Given the description of an element on the screen output the (x, y) to click on. 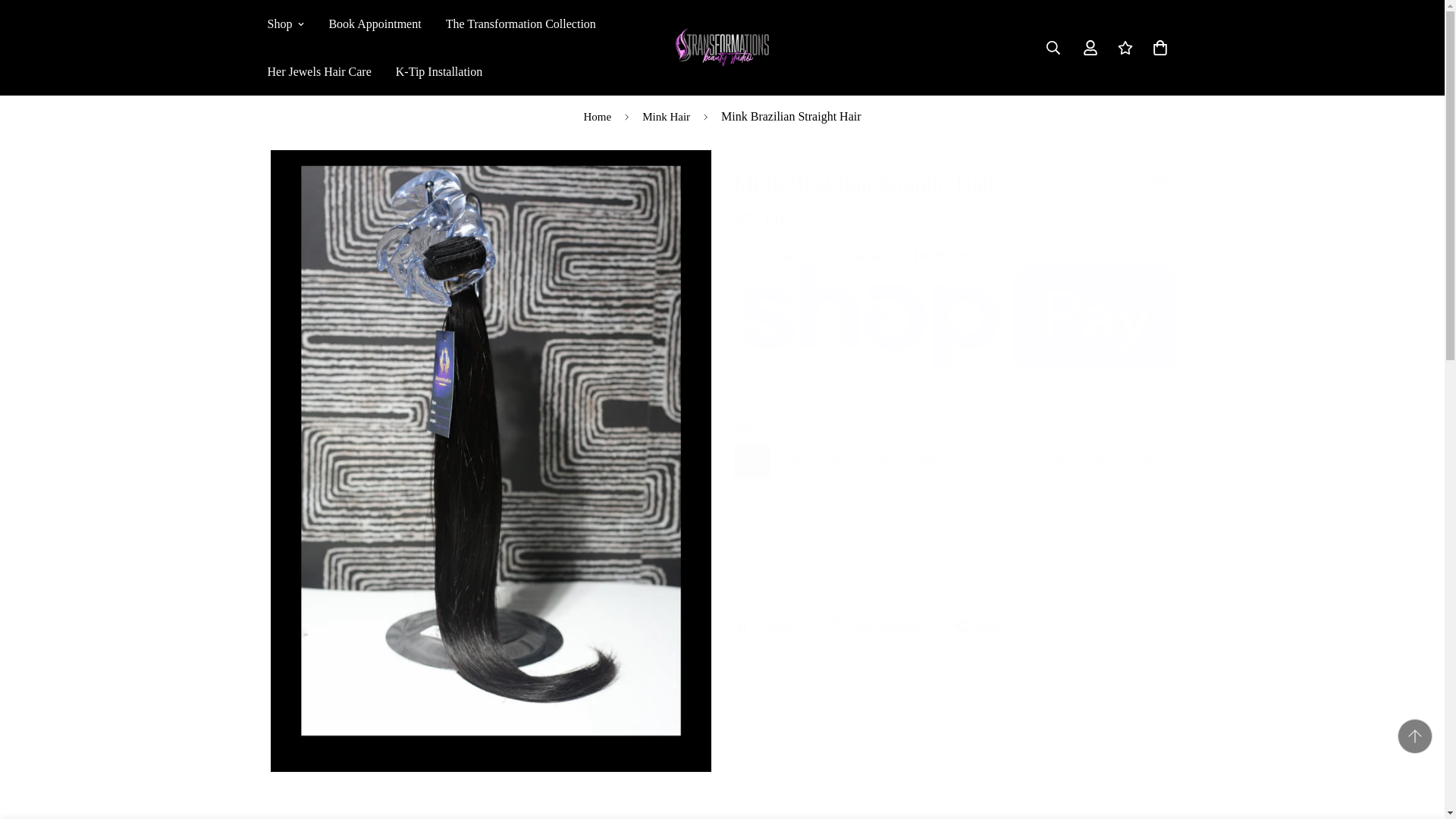
Mink Hair (665, 116)
K-Tip Installation (439, 71)
Shop (284, 23)
Her Jewels Hair Care (318, 71)
1 (782, 545)
Book Appointment (373, 23)
Back to the home page (598, 116)
Transformations Beauty Studio (721, 47)
Home (598, 116)
